Given the description of an element on the screen output the (x, y) to click on. 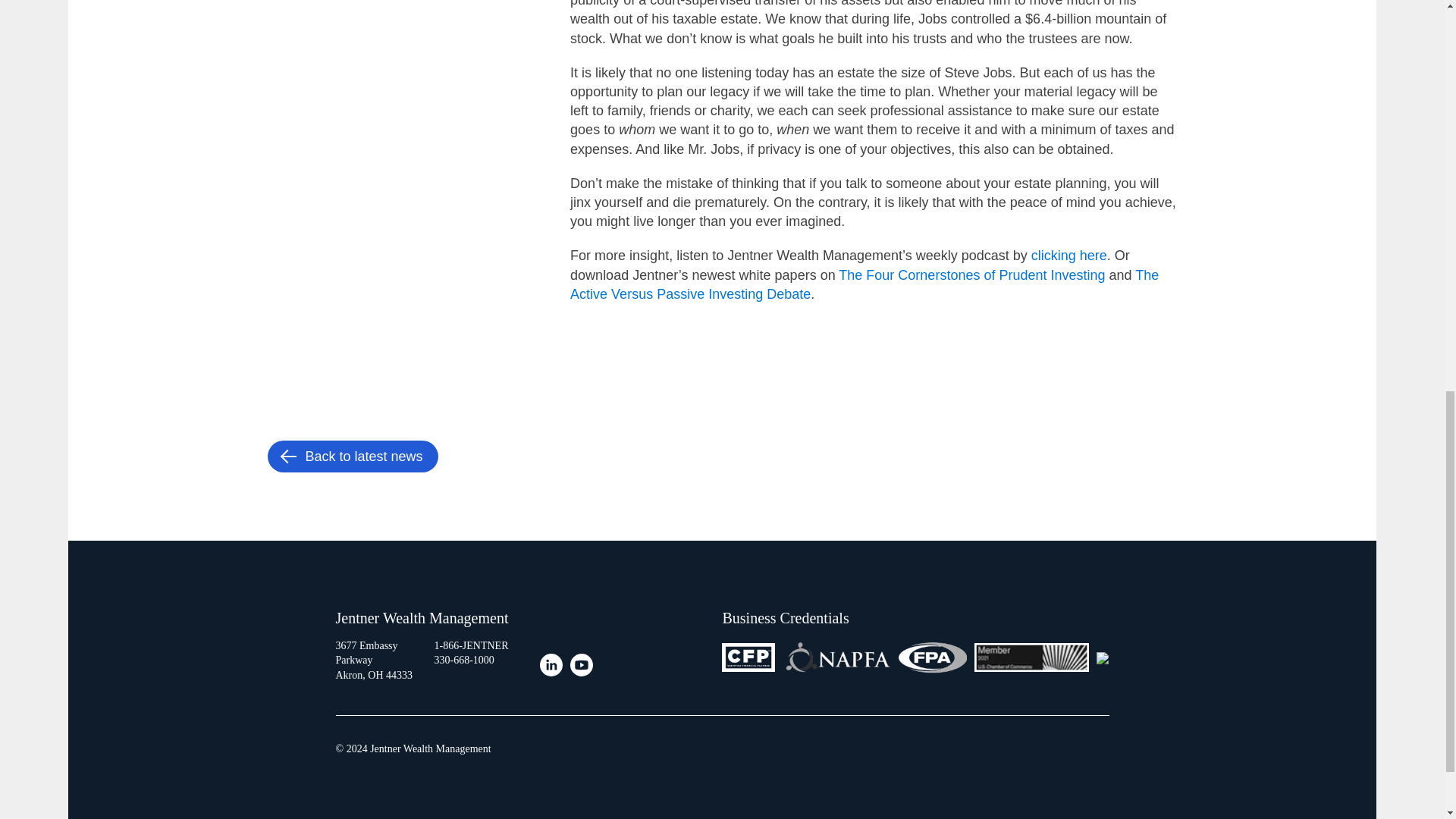
1-866-JENTNER (470, 645)
Back to latest news (352, 456)
clicking here (1068, 255)
330-668-1000 (463, 660)
The Four Cornerstones of Prudent Investing (971, 273)
The Active Versus Passive Investing Debate (864, 283)
The Four Cornerstones of Prudent Investing (971, 273)
